Given the description of an element on the screen output the (x, y) to click on. 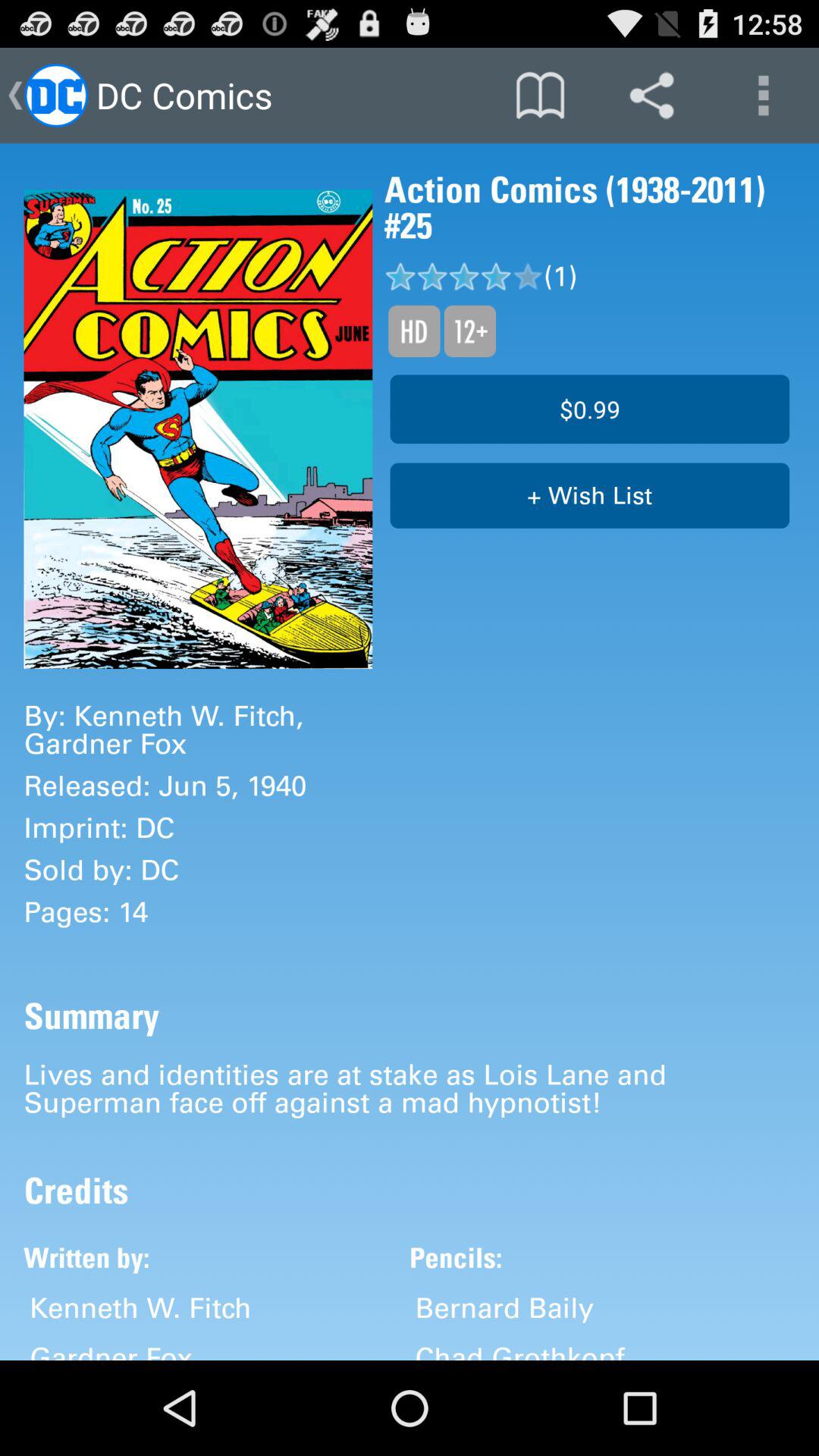
open the icon below the $0.99 item (589, 495)
